Given the description of an element on the screen output the (x, y) to click on. 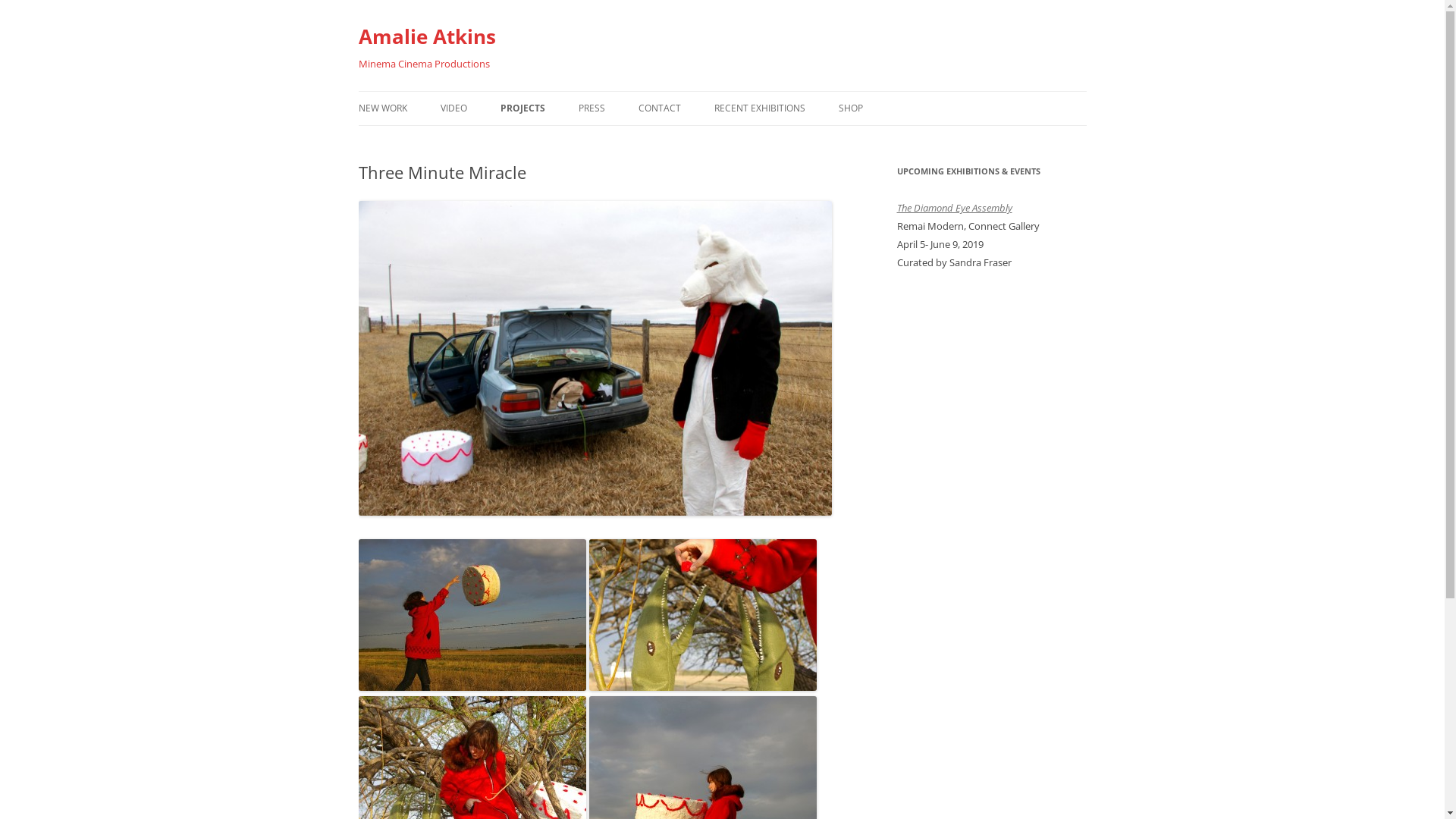
PRESS Element type: text (590, 108)
PROJECTS Element type: text (522, 108)
Amalie Atkins Element type: text (426, 36)
The Diamond Eye Assembly Element type: text (953, 207)
SHOP Element type: text (850, 108)
Skip to content Element type: text (721, 91)
CONTACT Element type: text (659, 108)
OH, CANADA Element type: text (576, 140)
RECENT EXHIBITIONS Element type: text (759, 108)
VIDEO Element type: text (452, 108)
CV Element type: text (714, 140)
Amalie Atkins, Three Minute Miracle Element type: hover (594, 357)
NEW WORK Element type: text (381, 108)
